Given the description of an element on the screen output the (x, y) to click on. 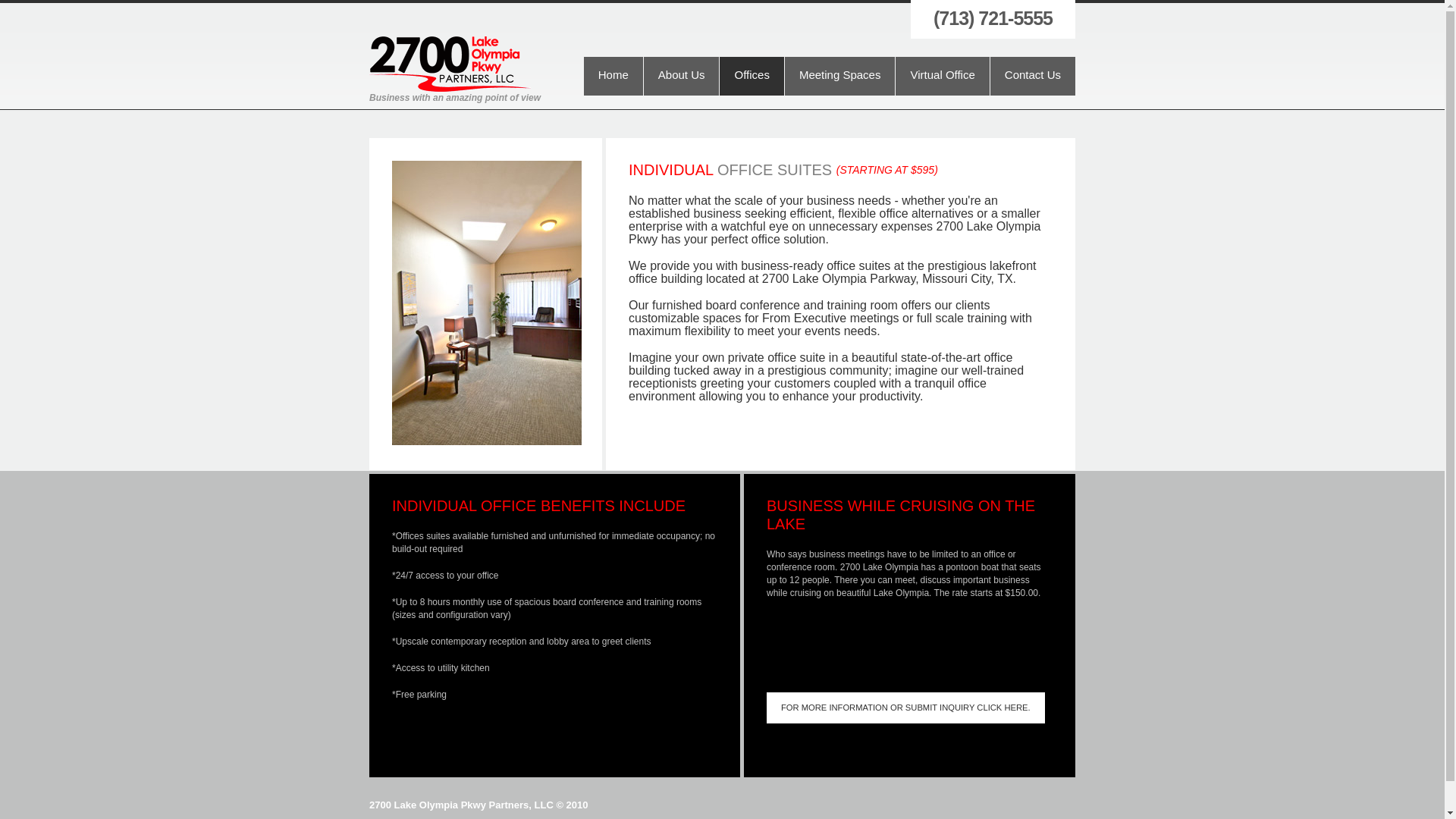
About Us Element type: text (681, 75)
Home Element type: text (613, 75)
Virtual Office Element type: text (941, 75)
Meeting Spaces Element type: text (839, 75)
FOR MORE INFORMATION OR SUBMIT INQUIRY CLICK HERE. Element type: text (905, 707)
Offices Element type: text (751, 75)
Contact Us Element type: text (1032, 75)
